Given the description of an element on the screen output the (x, y) to click on. 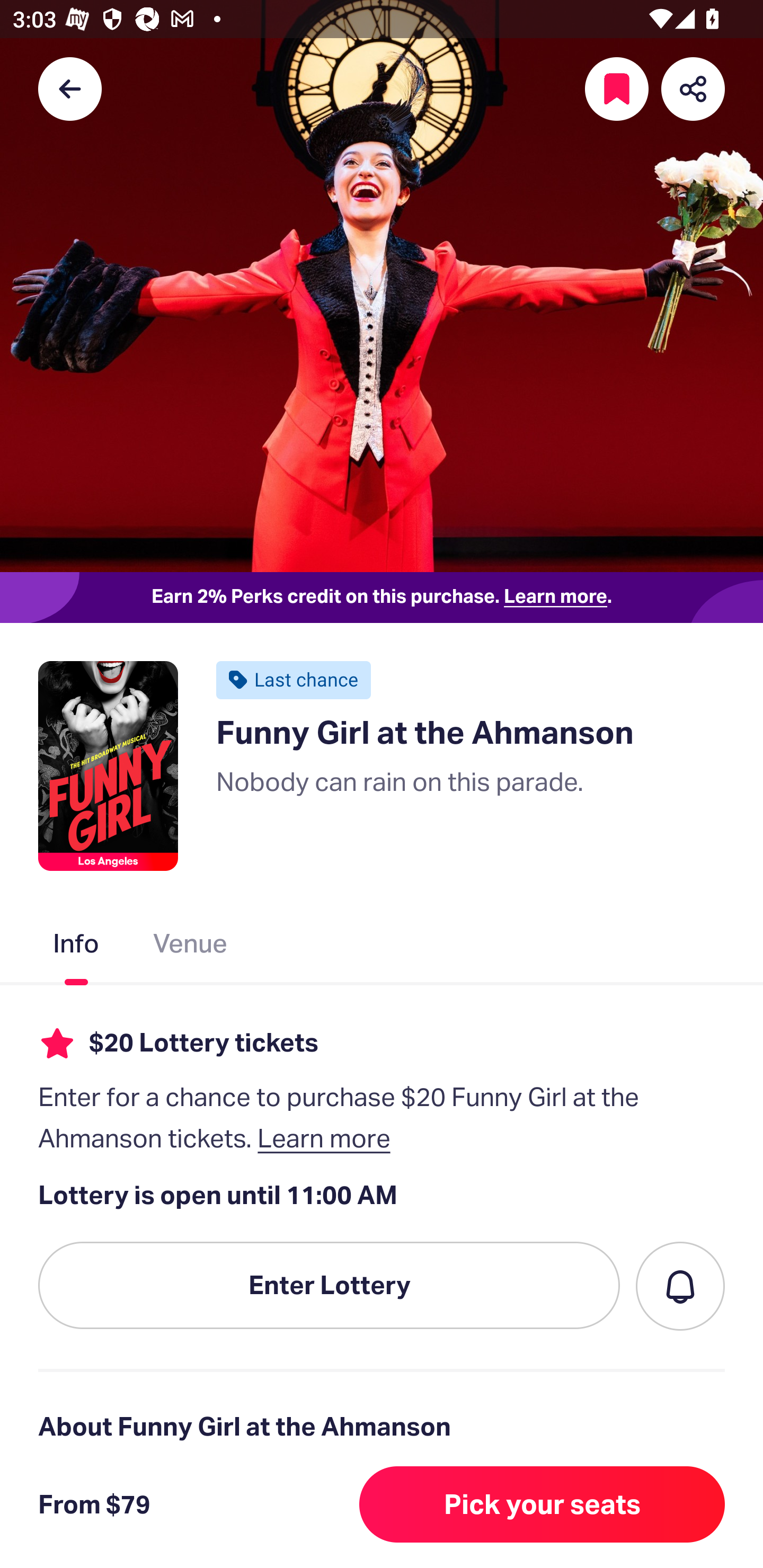
Earn 2% Perks credit on this purchase. Learn more. (381, 597)
Venue (190, 946)
Enter Lottery (328, 1285)
About Funny Girl at the Ahmanson (381, 1425)
Pick your seats (541, 1504)
